Given the description of an element on the screen output the (x, y) to click on. 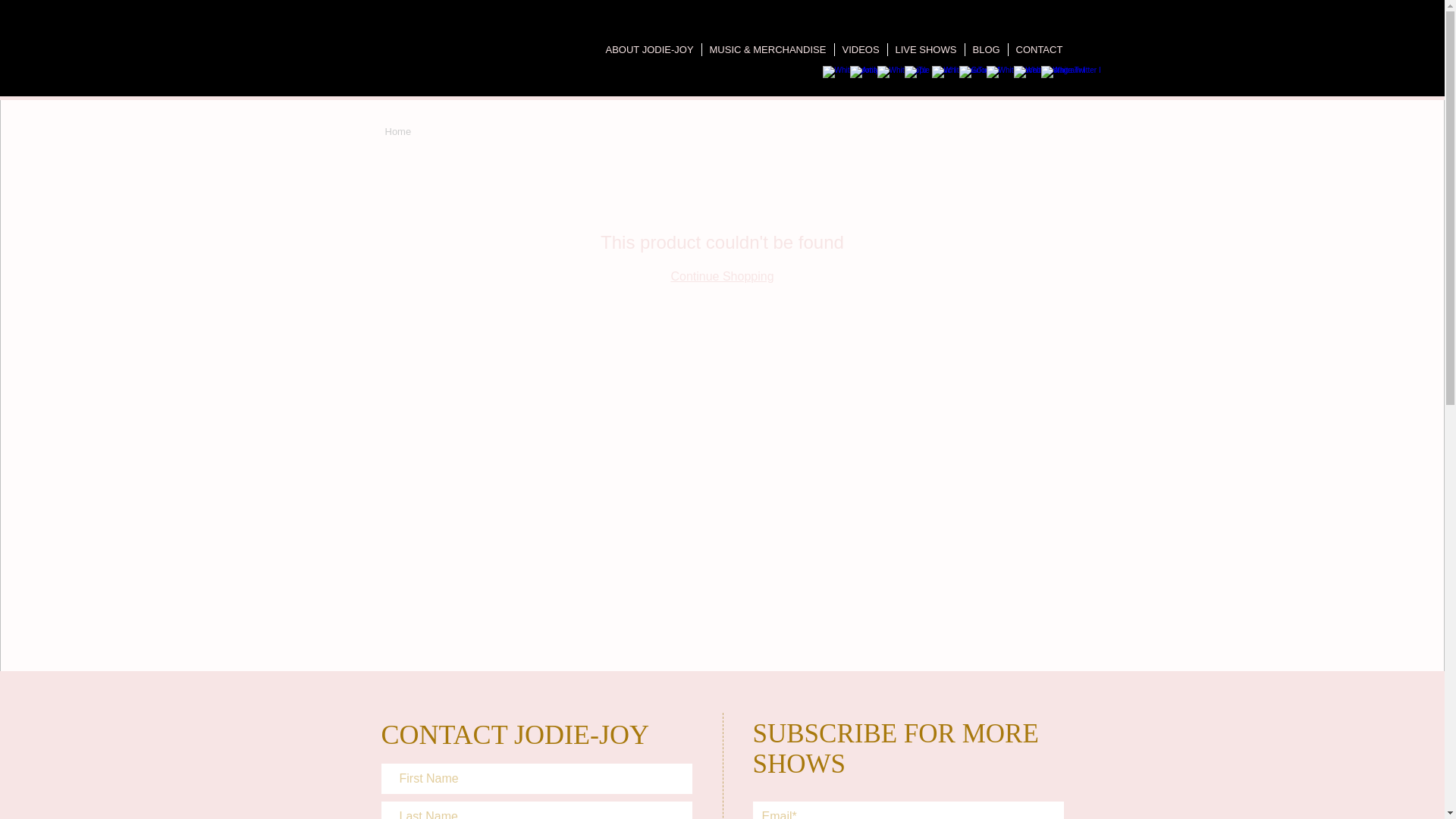
LIVE SHOWS Element type: text (925, 49)
VIDEOS Element type: text (860, 49)
Home Element type: text (398, 131)
Continue Shopping Element type: text (721, 275)
ABOUT JODIE-JOY Element type: text (648, 49)
BLOG Element type: text (985, 49)
CONTACT Element type: text (1039, 49)
MUSIC & MERCHANDISE Element type: text (768, 49)
